Given the description of an element on the screen output the (x, y) to click on. 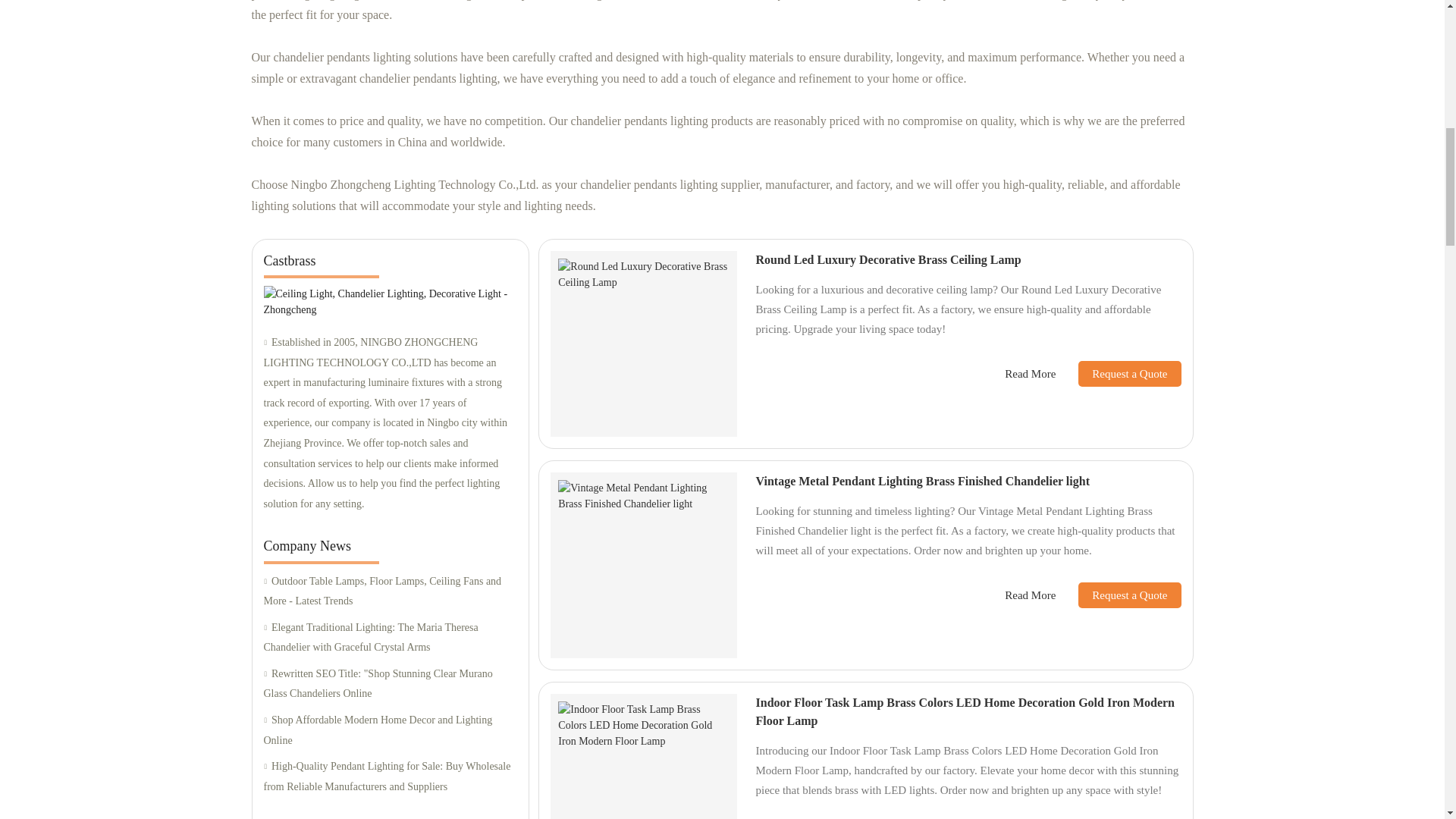
Shop Affordable Modern Home Decor and Lighting Online (389, 730)
Round Led Luxury Decorative Brass Ceiling Lamp (887, 259)
Read More (1029, 374)
Request a Quote (1117, 373)
